Given the description of an element on the screen output the (x, y) to click on. 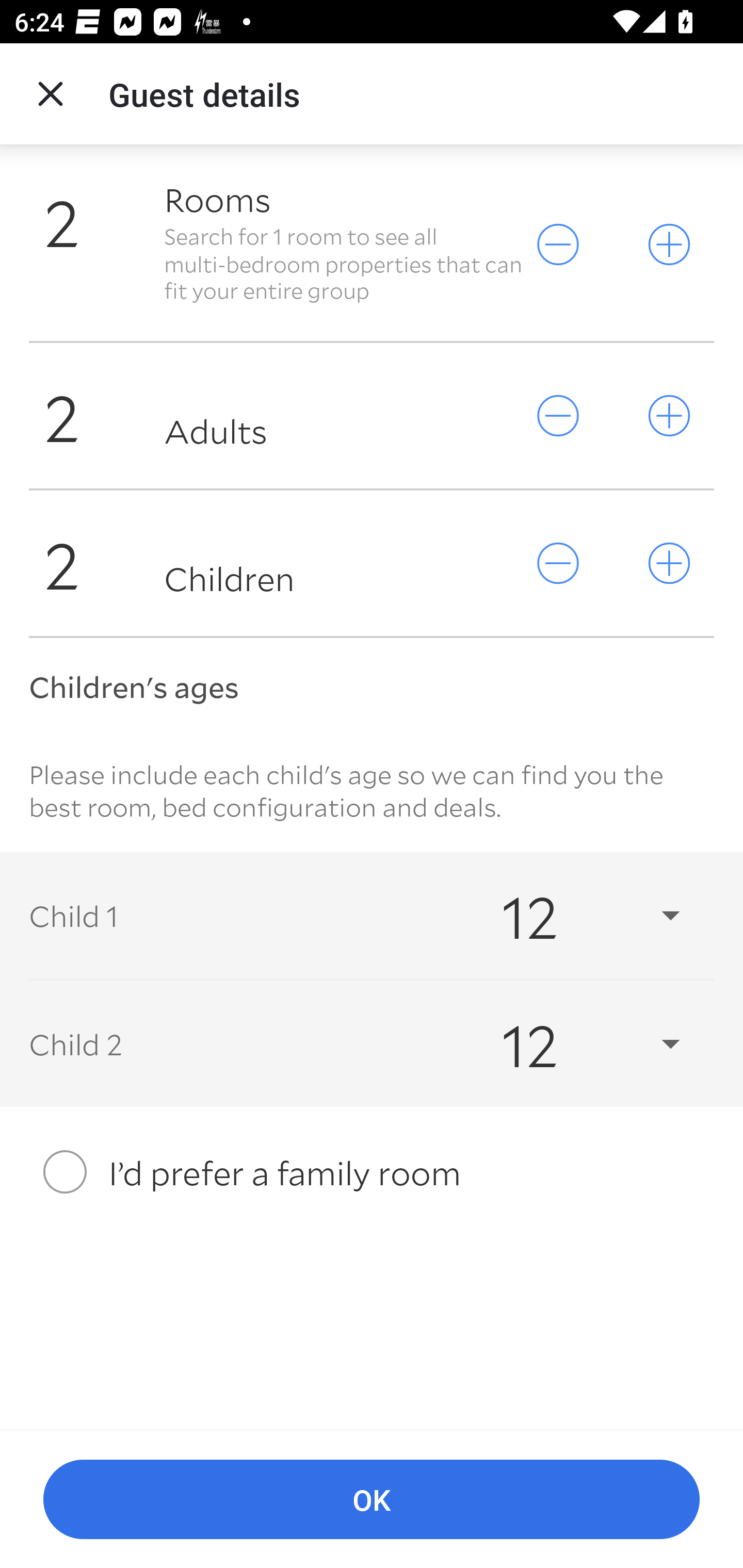
12 (573, 914)
12 (573, 1043)
I’d prefer a family room (371, 1172)
OK (371, 1499)
